Given the description of an element on the screen output the (x, y) to click on. 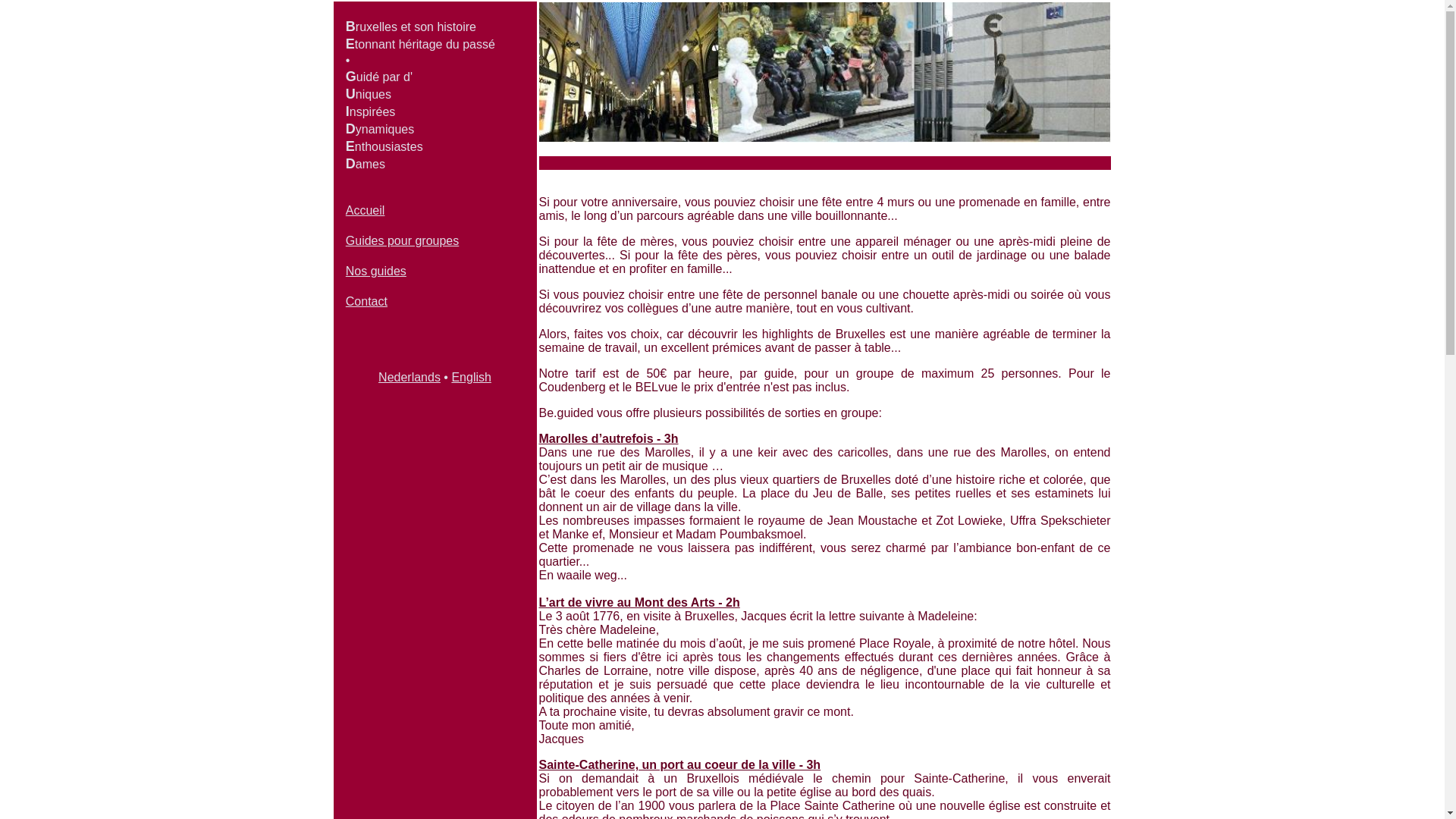
Guides pour groupes Element type: text (401, 240)
Accueil Element type: text (365, 209)
Contact Element type: text (366, 300)
Nos guides Element type: text (375, 270)
English Element type: text (470, 376)
Nederlands Element type: text (409, 376)
